Given the description of an element on the screen output the (x, y) to click on. 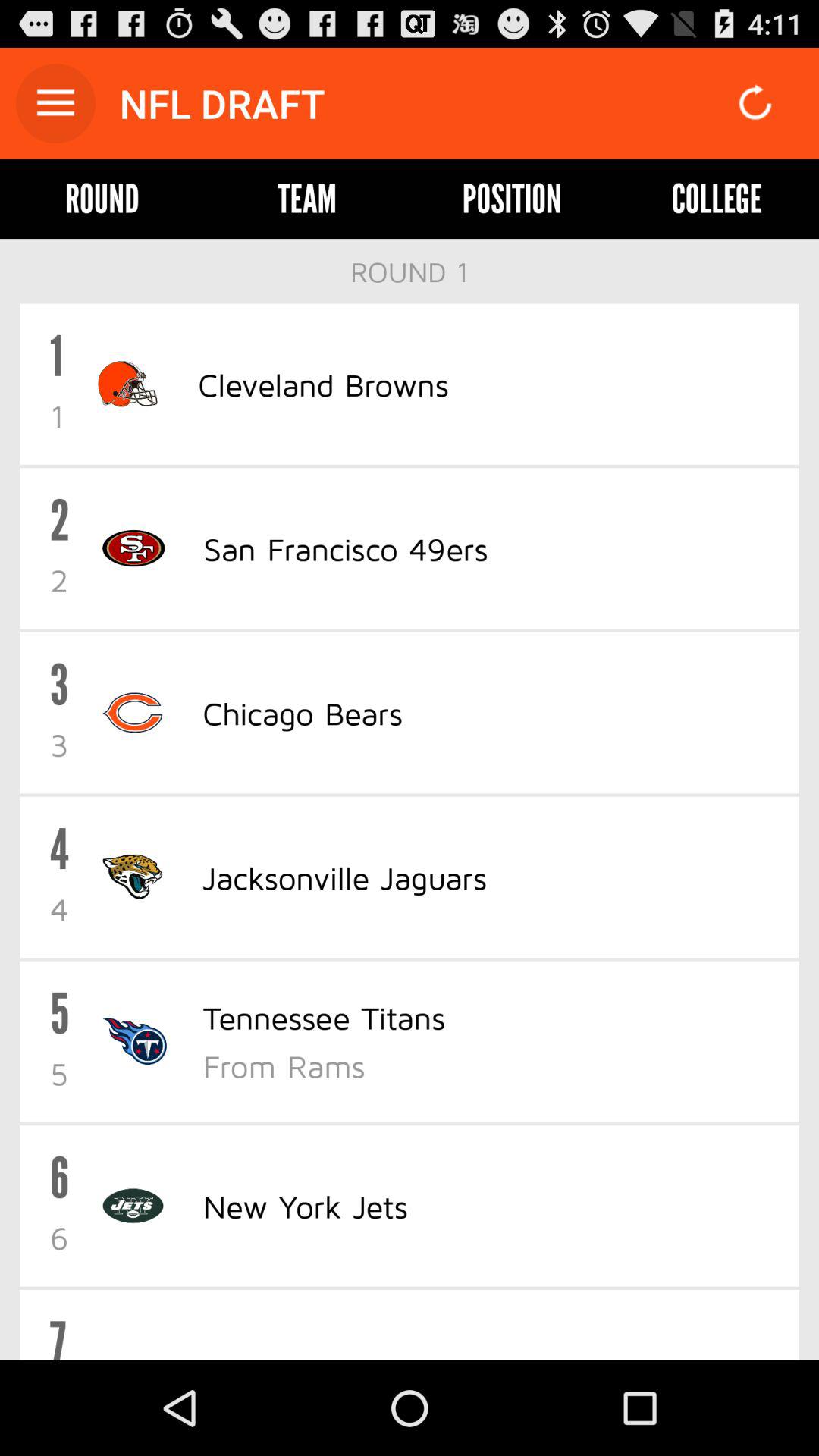
turn on app to the left of the nfl draft app (55, 103)
